Given the description of an element on the screen output the (x, y) to click on. 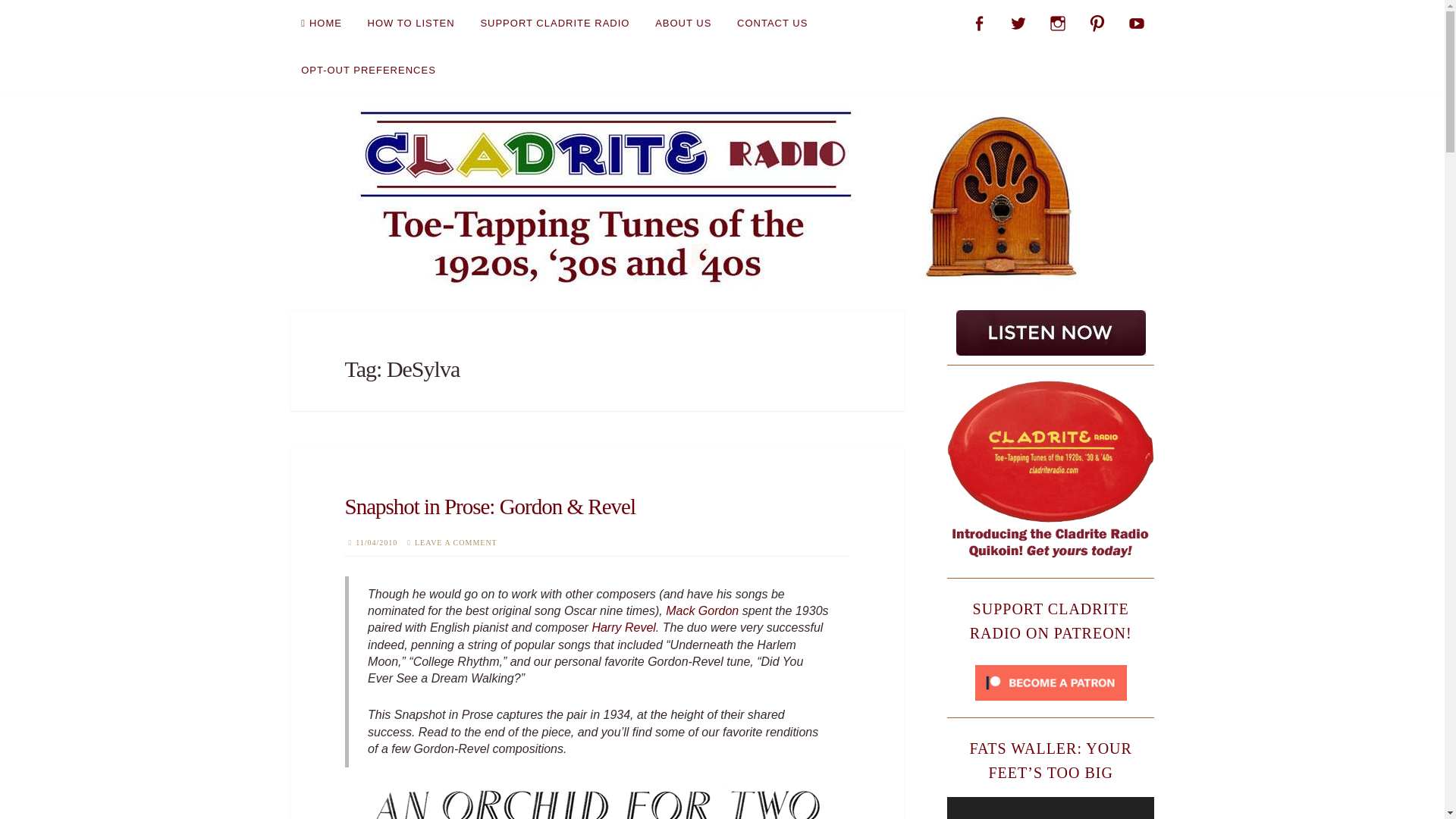
HOW TO LISTEN (410, 23)
LEAVE A COMMENT (455, 542)
Harry Revel (623, 626)
CONTACT US (771, 23)
OPT-OUT PREFERENCES (367, 70)
HOME (320, 23)
Mack Gordon (701, 610)
SUPPORT CLADRITE RADIO (554, 23)
ABOUT US (683, 23)
